Given the description of an element on the screen output the (x, y) to click on. 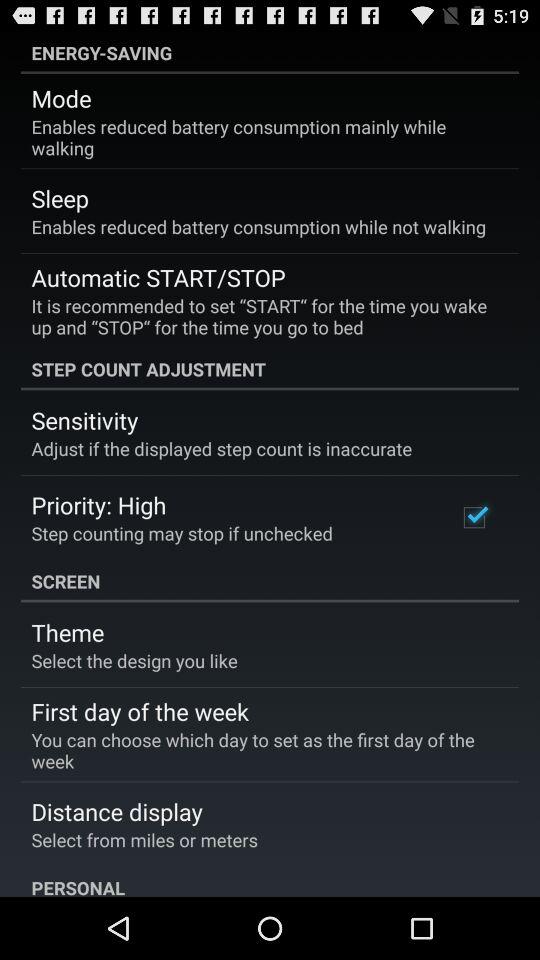
tap the icon above the theme icon (270, 581)
